Given the description of an element on the screen output the (x, y) to click on. 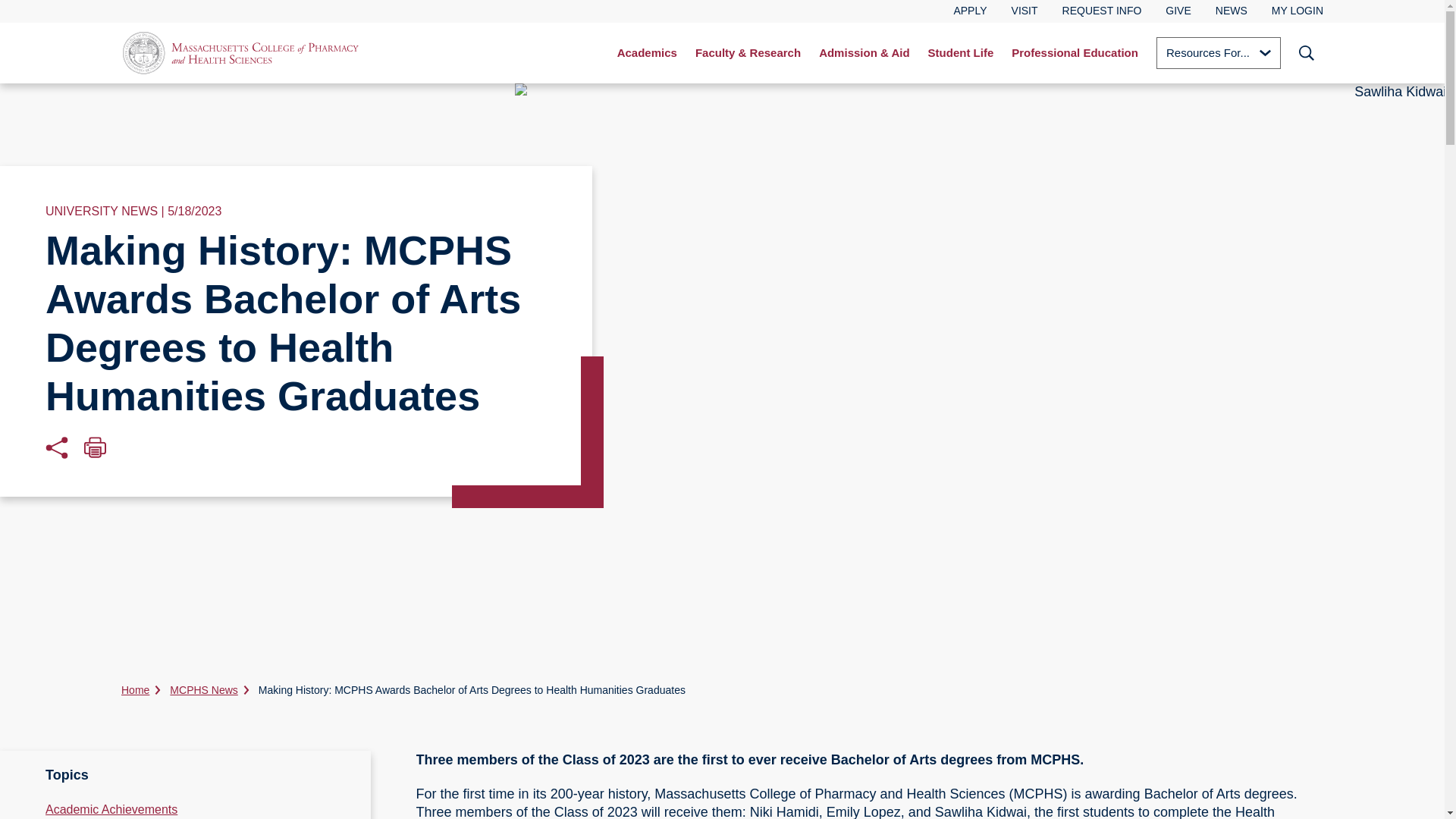
Resources For... (1218, 52)
GIVE (1178, 11)
Student Life (960, 52)
VISIT (1024, 11)
Professional Education (1075, 52)
APPLY (970, 11)
REQUEST INFO (1101, 11)
Academics (646, 52)
MY LOGIN (1297, 11)
NEWS (1231, 11)
